Given the description of an element on the screen output the (x, y) to click on. 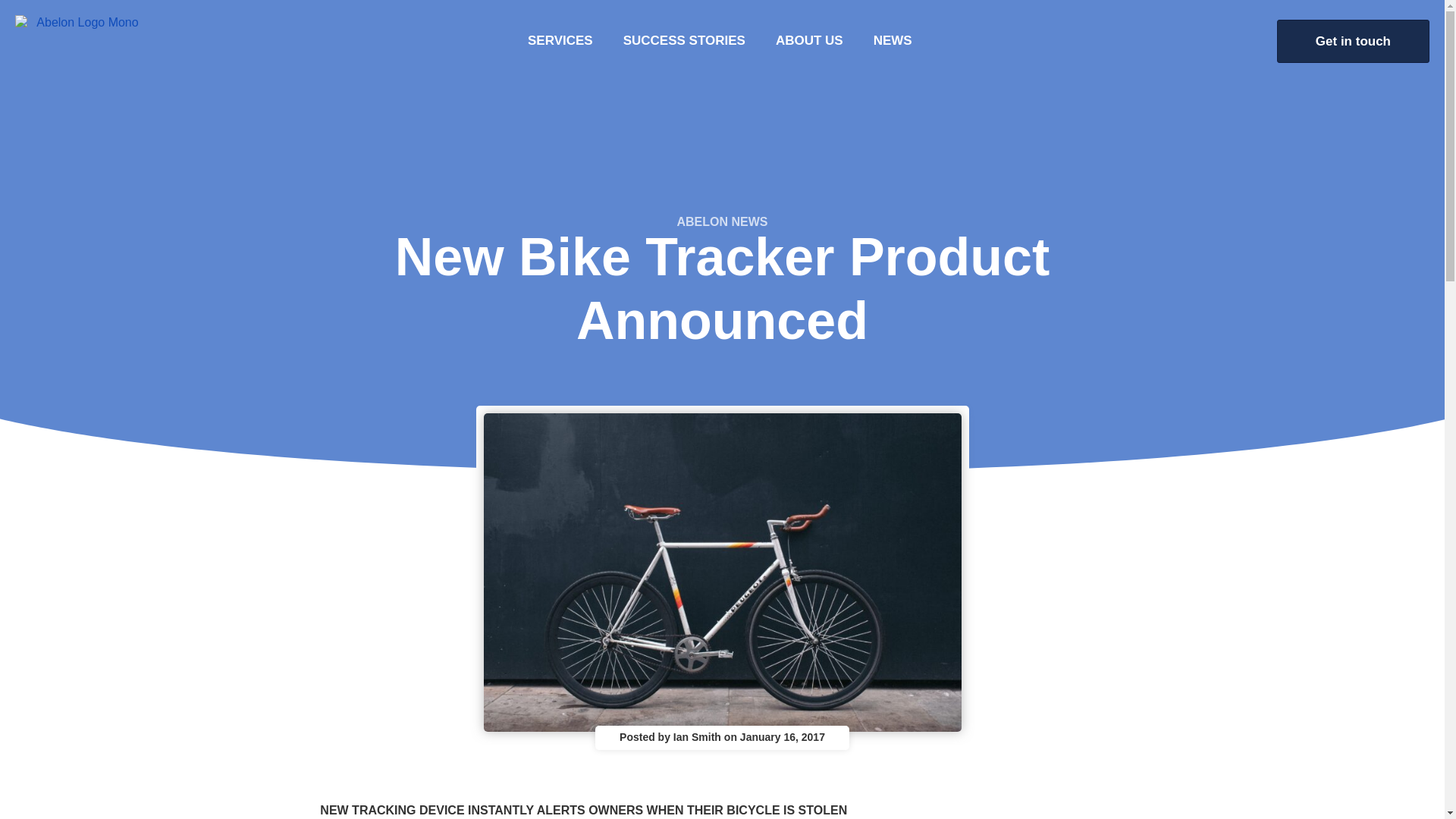
NEWS (893, 40)
SUCCESS STORIES (684, 40)
SERVICES (560, 40)
ABOUT US (809, 40)
